Given the description of an element on the screen output the (x, y) to click on. 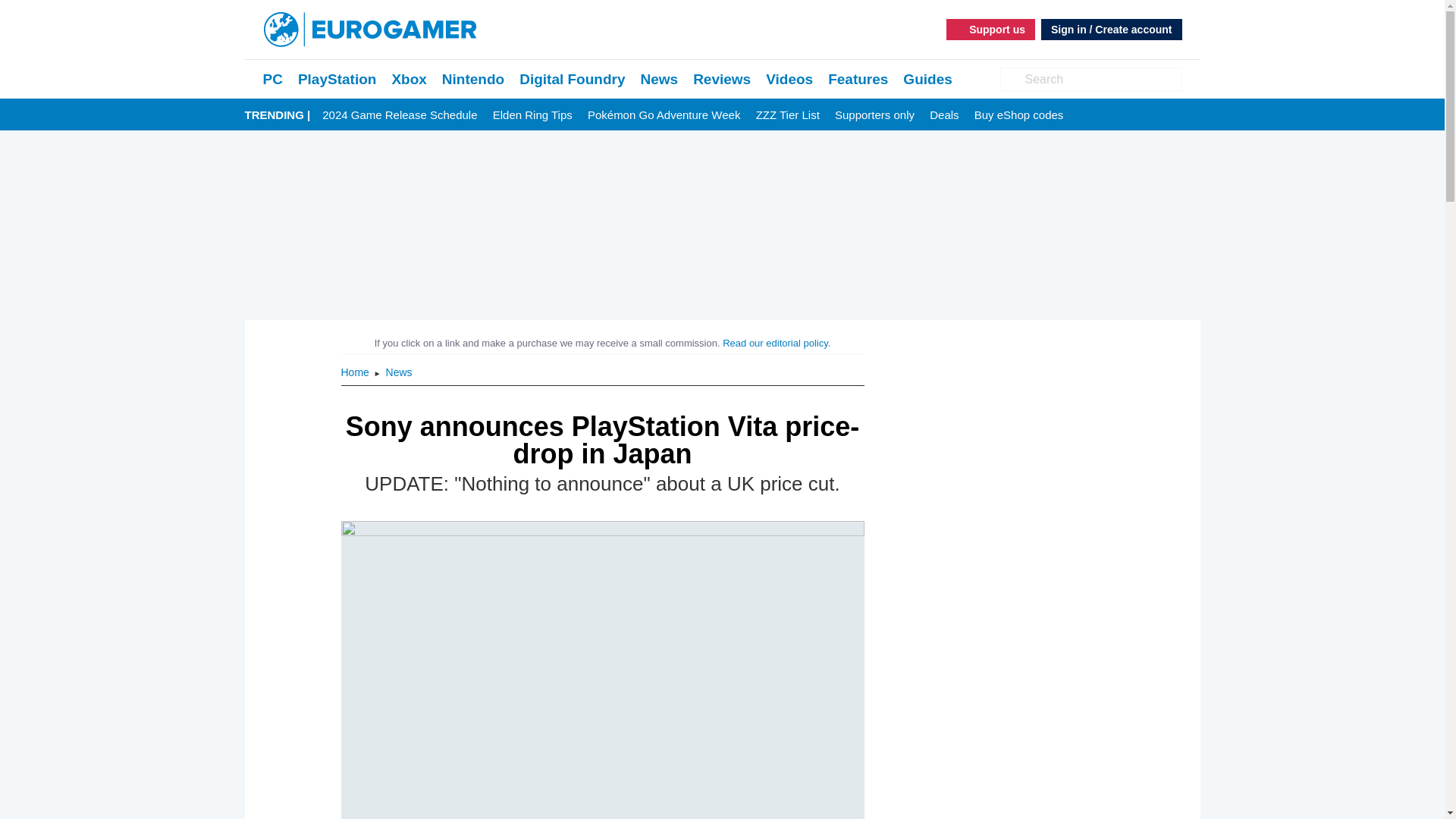
News (659, 78)
Guides (927, 78)
Xbox (408, 78)
Buy eShop codes (1019, 114)
Support us (990, 29)
Supporters only (874, 114)
Buy eShop codes (1019, 114)
Videos (788, 78)
ZZZ Tier List (787, 114)
Deals (944, 114)
Home (356, 372)
Reviews (722, 78)
2024 Game Release Schedule (399, 114)
Digital Foundry (571, 78)
Videos (788, 78)
